Given the description of an element on the screen output the (x, y) to click on. 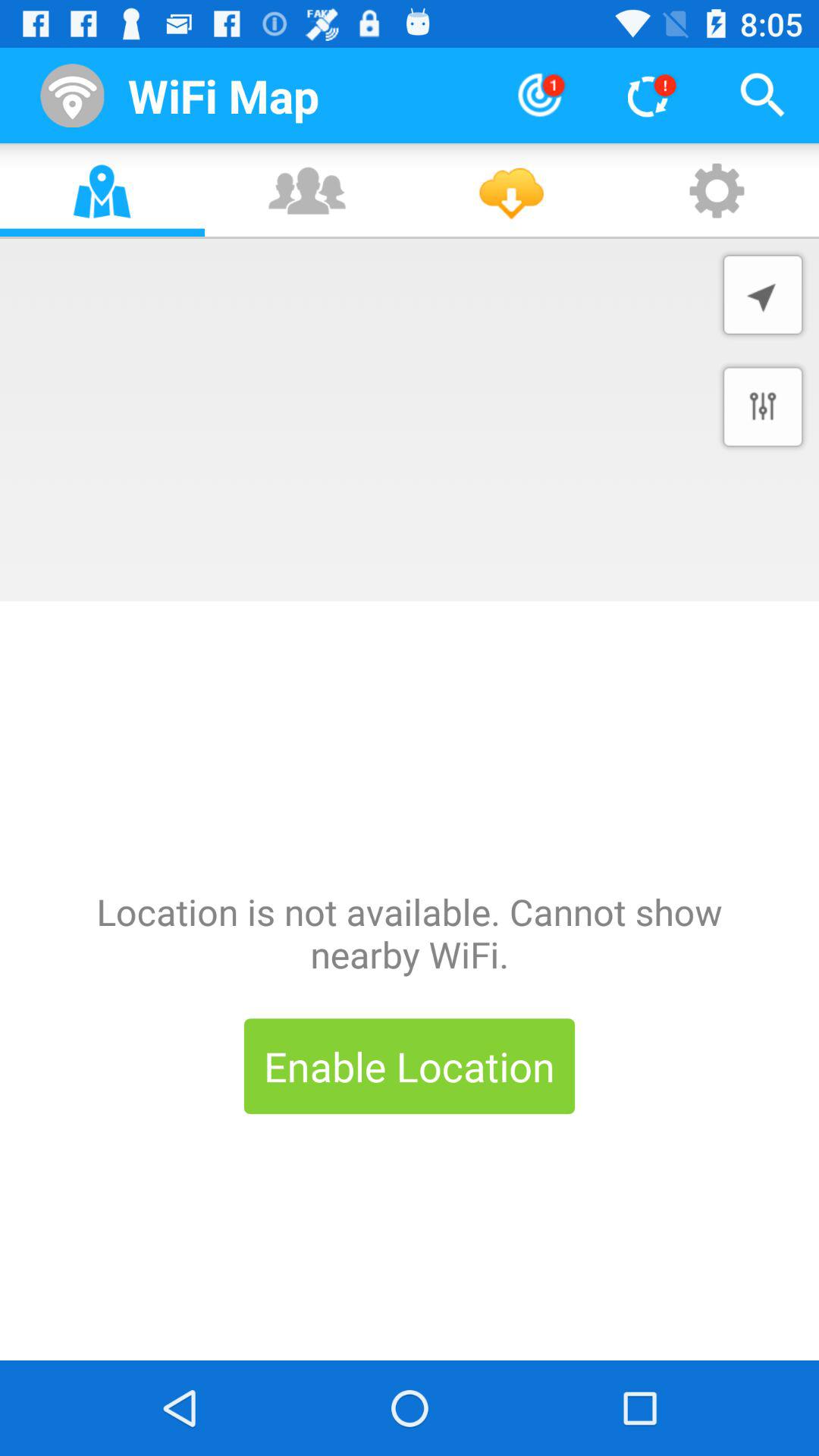
settings (762, 406)
